Given the description of an element on the screen output the (x, y) to click on. 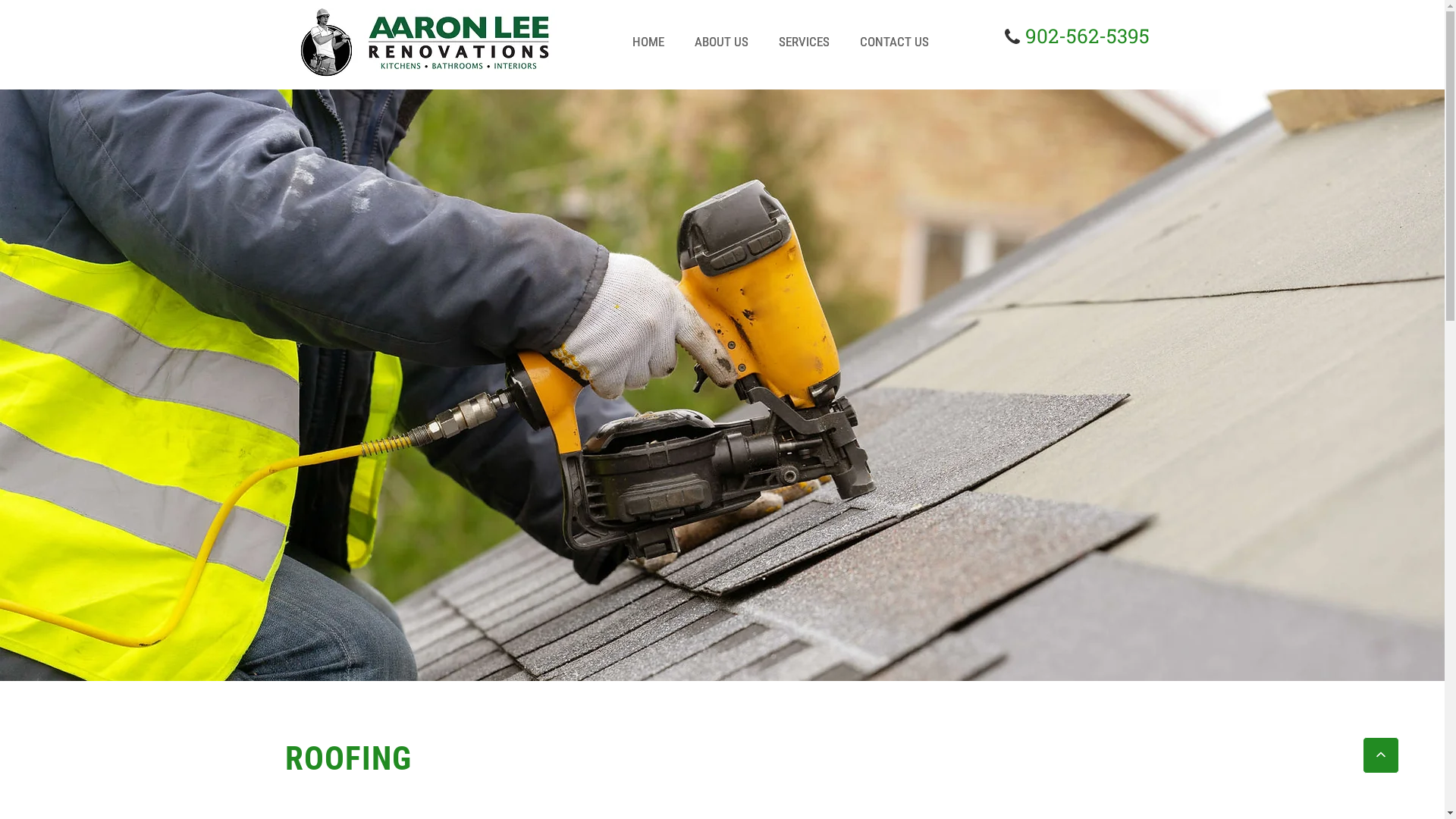
902-562-5395 Element type: text (1087, 40)
CONTACT US Element type: text (894, 41)
HOME Element type: text (648, 41)
ABOUT US Element type: text (721, 41)
